Given the description of an element on the screen output the (x, y) to click on. 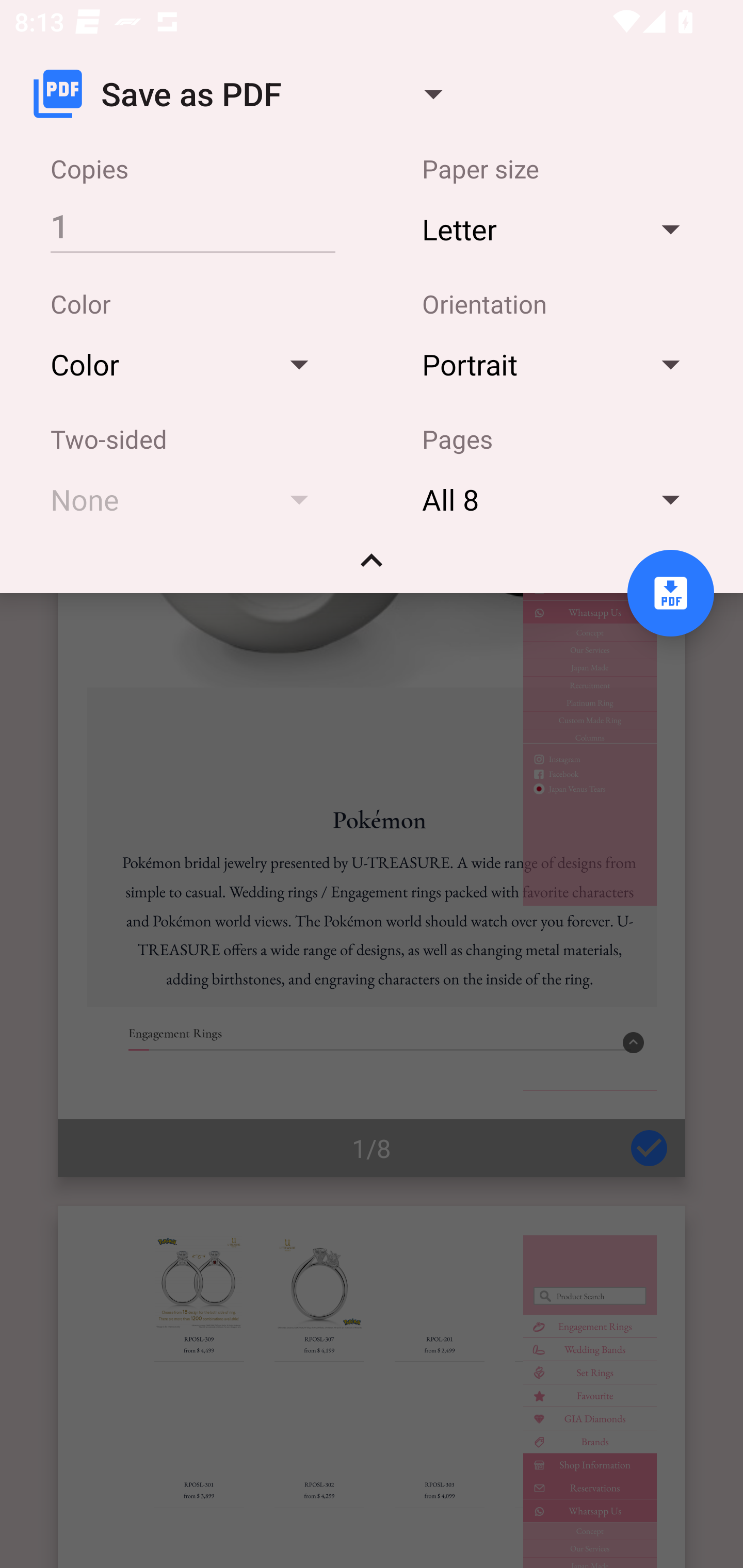
Save as PDF (245, 93)
1 (192, 225)
Letter (560, 228)
Color (189, 364)
Portrait (560, 364)
None (189, 499)
All 8 (560, 499)
Collapse handle (371, 567)
Save to PDF (670, 593)
